Given the description of an element on the screen output the (x, y) to click on. 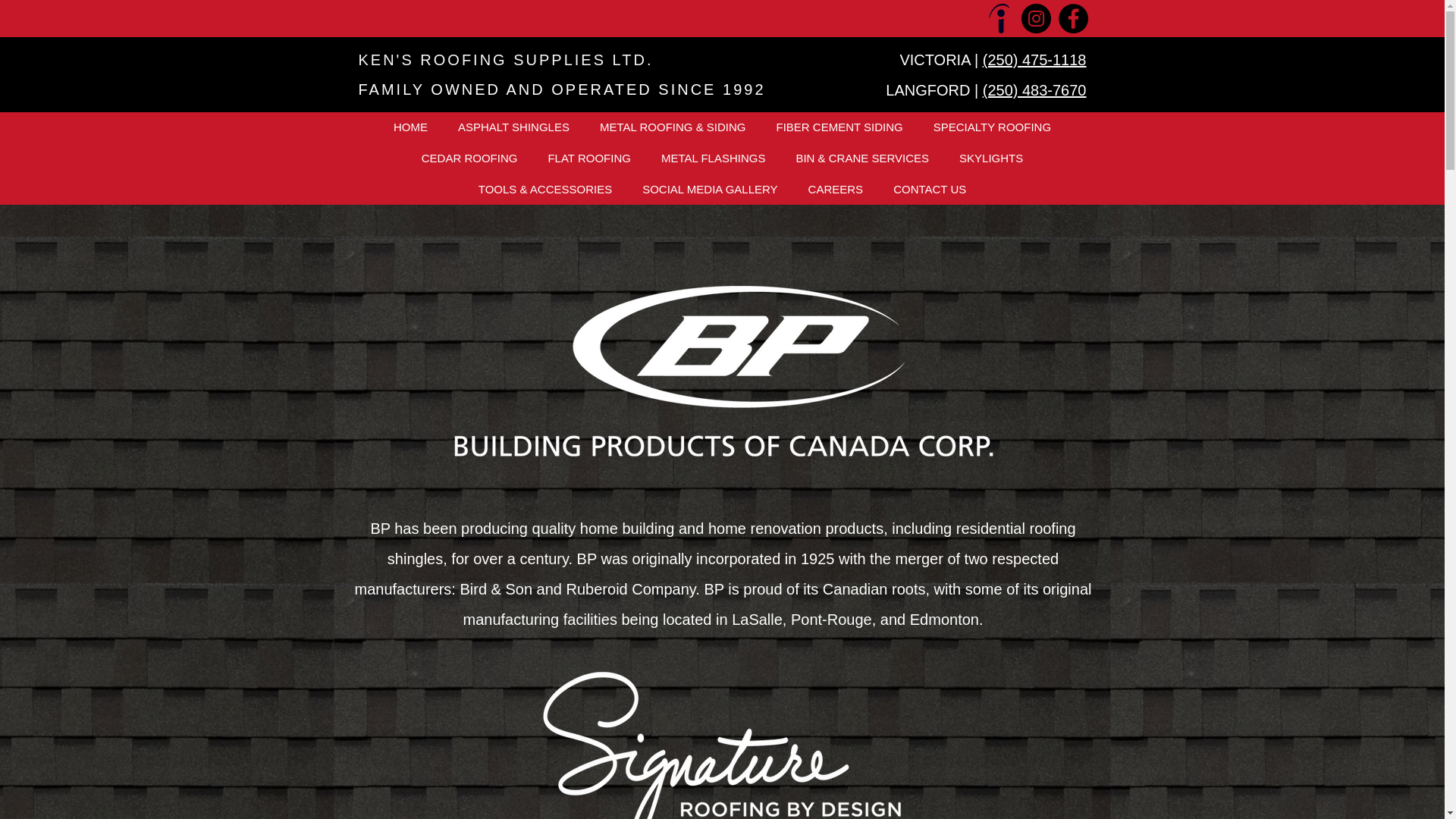
SKYLIGHTS (990, 157)
FIBER CEMENT SIDING (838, 126)
FLAT ROOFING (588, 157)
SPECIALTY ROOFING (991, 126)
SOCIAL MEDIA GALLERY (709, 188)
METAL FLASHINGS (713, 157)
CEDAR ROOFING (469, 157)
CAREERS (836, 188)
ASPHALT SHINGLES (513, 126)
CONTACT US (929, 188)
HOME (410, 126)
